Given the description of an element on the screen output the (x, y) to click on. 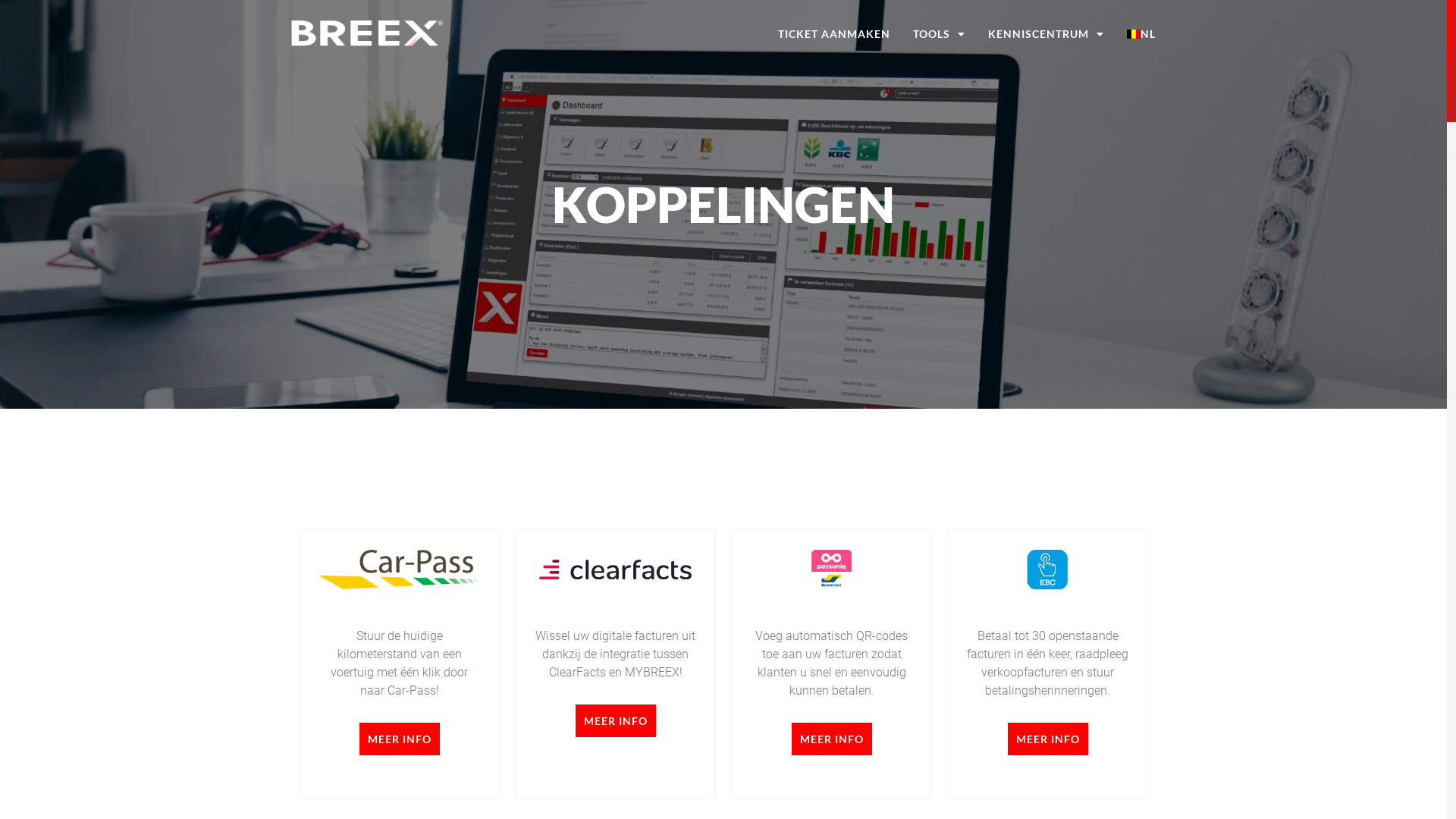
MEER INFO Element type: text (831, 738)
MEER INFO Element type: text (1047, 738)
TOOLS Element type: text (939, 34)
KENNISCENTRUM Element type: text (1046, 34)
NL Element type: text (1140, 34)
MEER INFO Element type: text (399, 738)
MEER INFO Element type: text (614, 720)
TICKET AANMAKEN Element type: text (834, 34)
